Given the description of an element on the screen output the (x, y) to click on. 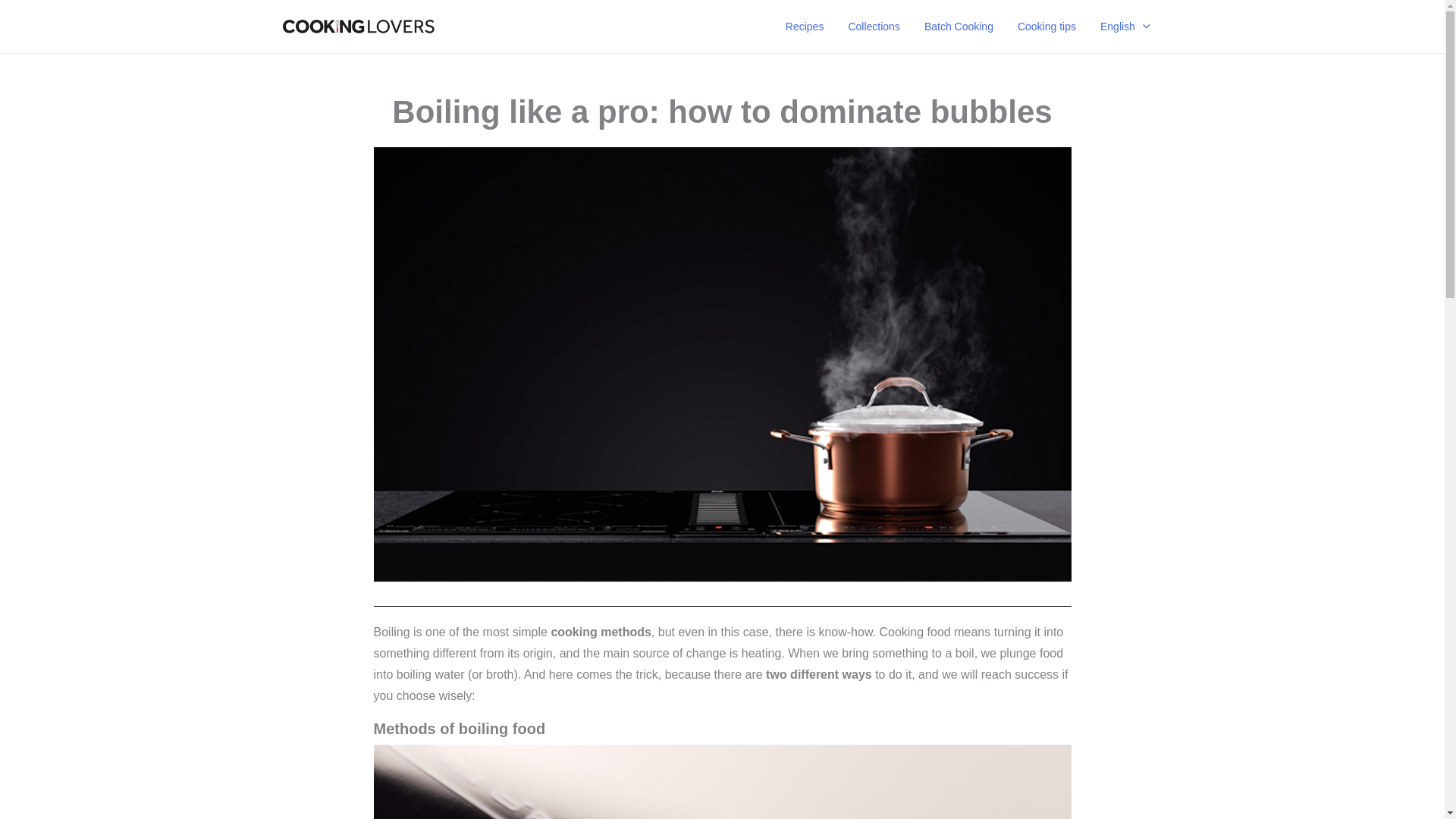
Recipes (804, 26)
English (1124, 26)
Batch Cooking (959, 26)
English (1124, 26)
Collections (873, 26)
Cooking tips (1046, 26)
